Given the description of an element on the screen output the (x, y) to click on. 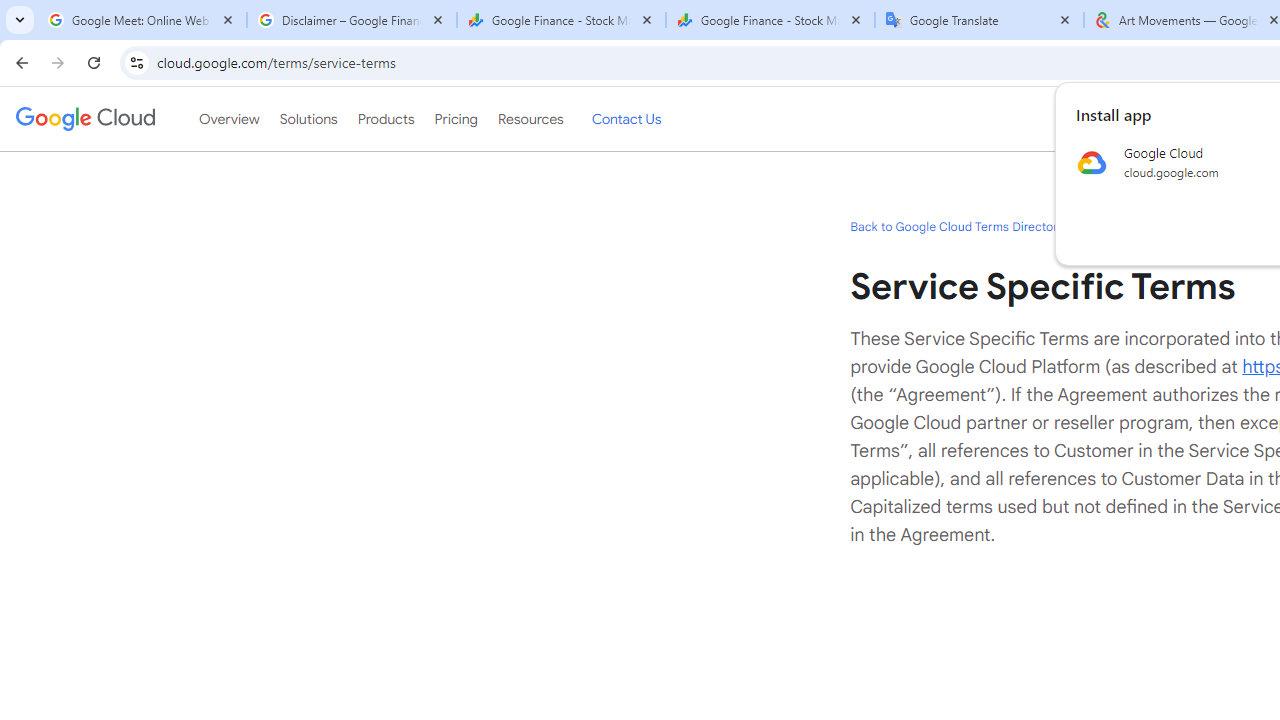
Back to Google Cloud Terms Directory (956, 226)
Overview (228, 119)
Google Cloud (84, 118)
Pricing (455, 119)
Google Translate (979, 20)
Resources (530, 119)
